Given the description of an element on the screen output the (x, y) to click on. 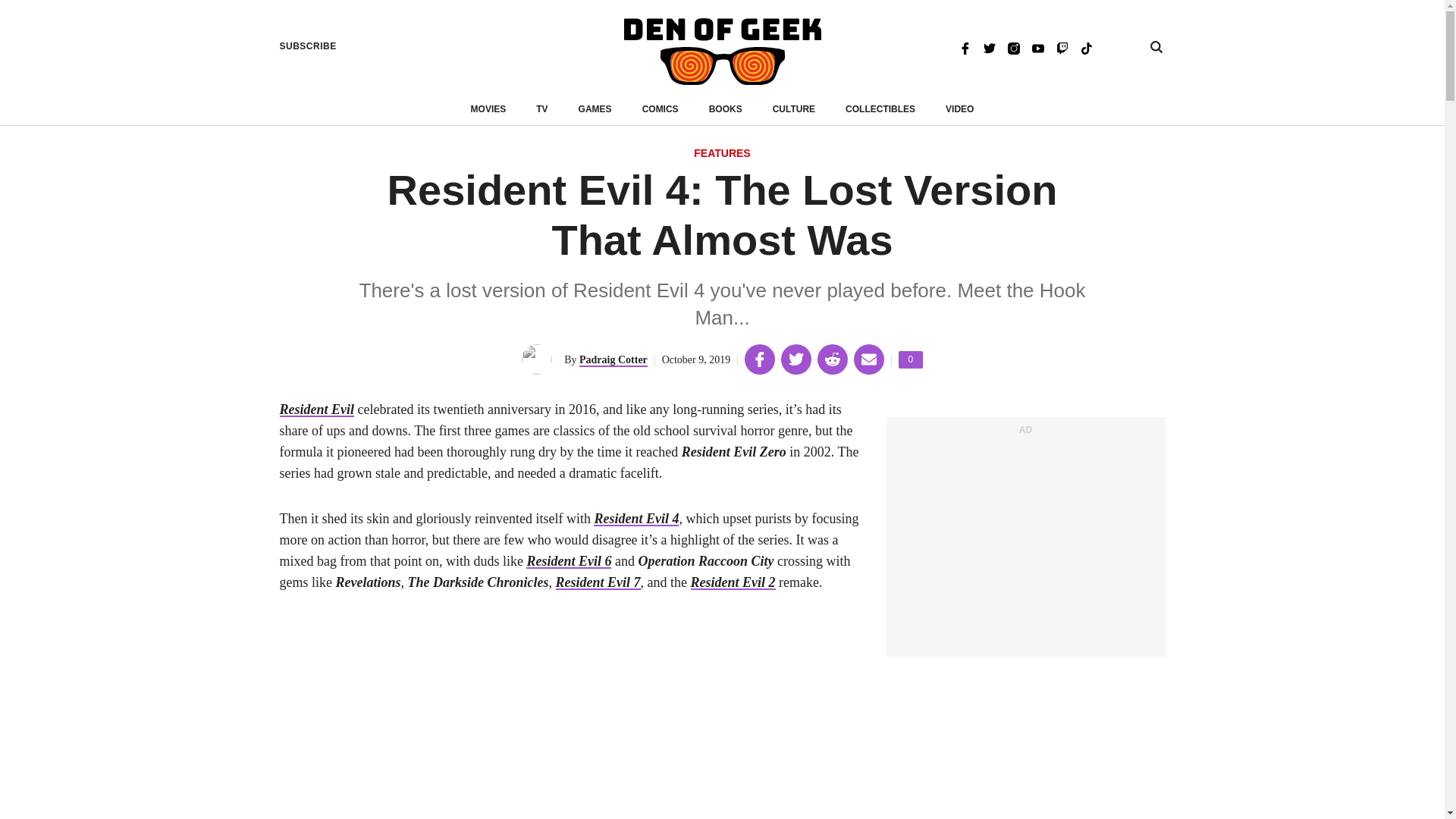
Resident Evil 2 (732, 581)
Resident Evil 2 Review (732, 581)
Resident Evil on Den of Geek (316, 409)
TikTok (1085, 46)
Padraig Cotter (613, 359)
Resident Evil 7 (598, 581)
Den of Geek (722, 52)
SUBSCRIBE (307, 46)
MOVIES (488, 109)
Resident Evil (316, 409)
COMICS (660, 109)
FEATURES (721, 153)
Twitch (1061, 46)
GAMES (594, 109)
Resident Evil 7 Review (598, 581)
